Given the description of an element on the screen output the (x, y) to click on. 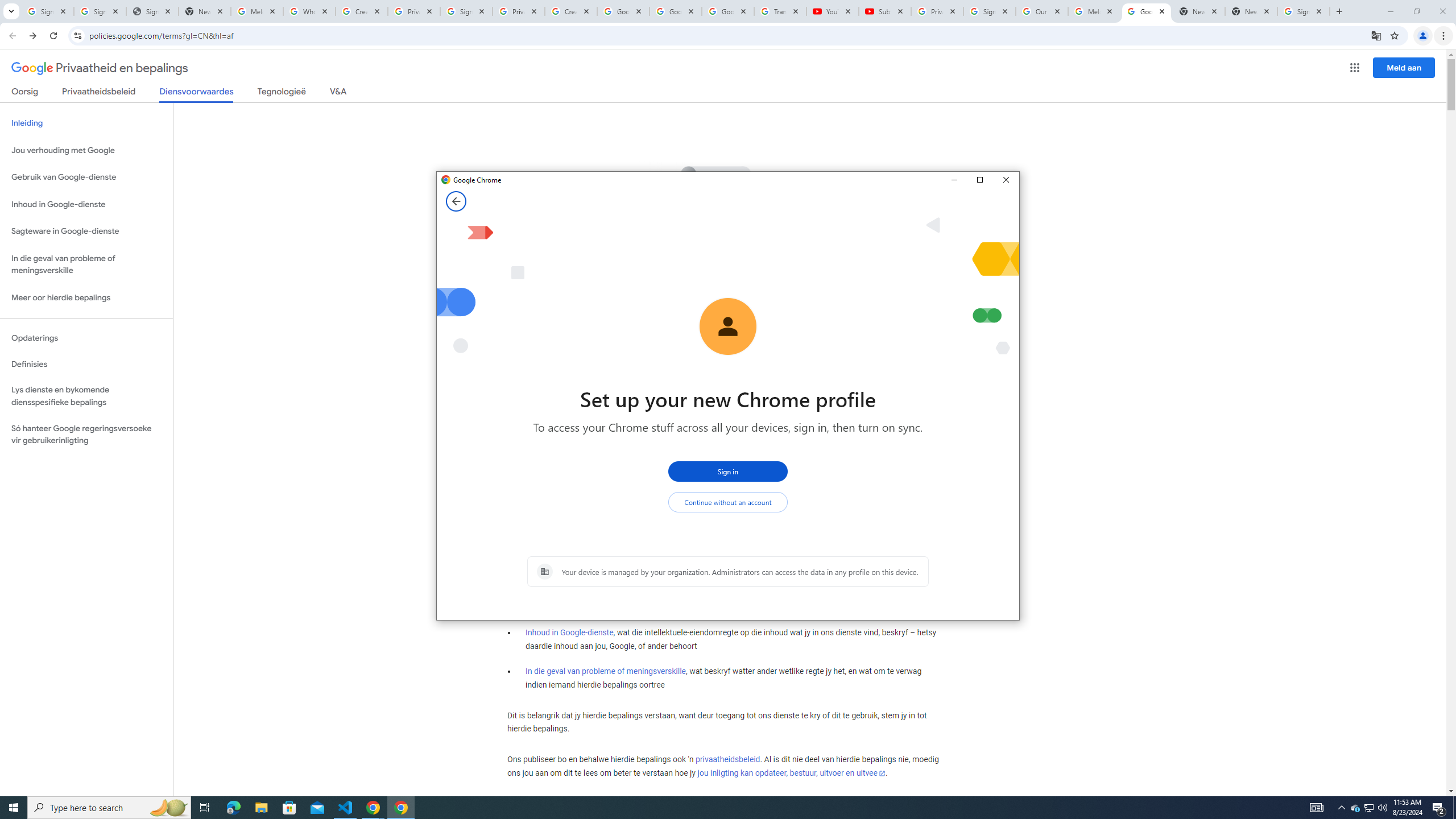
Create your Google Account (571, 11)
Lys dienste en bykomende diensspesifieke bepalings (86, 396)
Back from Set up your new Chrome profile page (455, 200)
Google Chrome - 1 running window (400, 807)
In die geval van probleme of meningsverskille (605, 670)
Sign in - Google Accounts (1303, 11)
YouTube (831, 11)
